Given the description of an element on the screen output the (x, y) to click on. 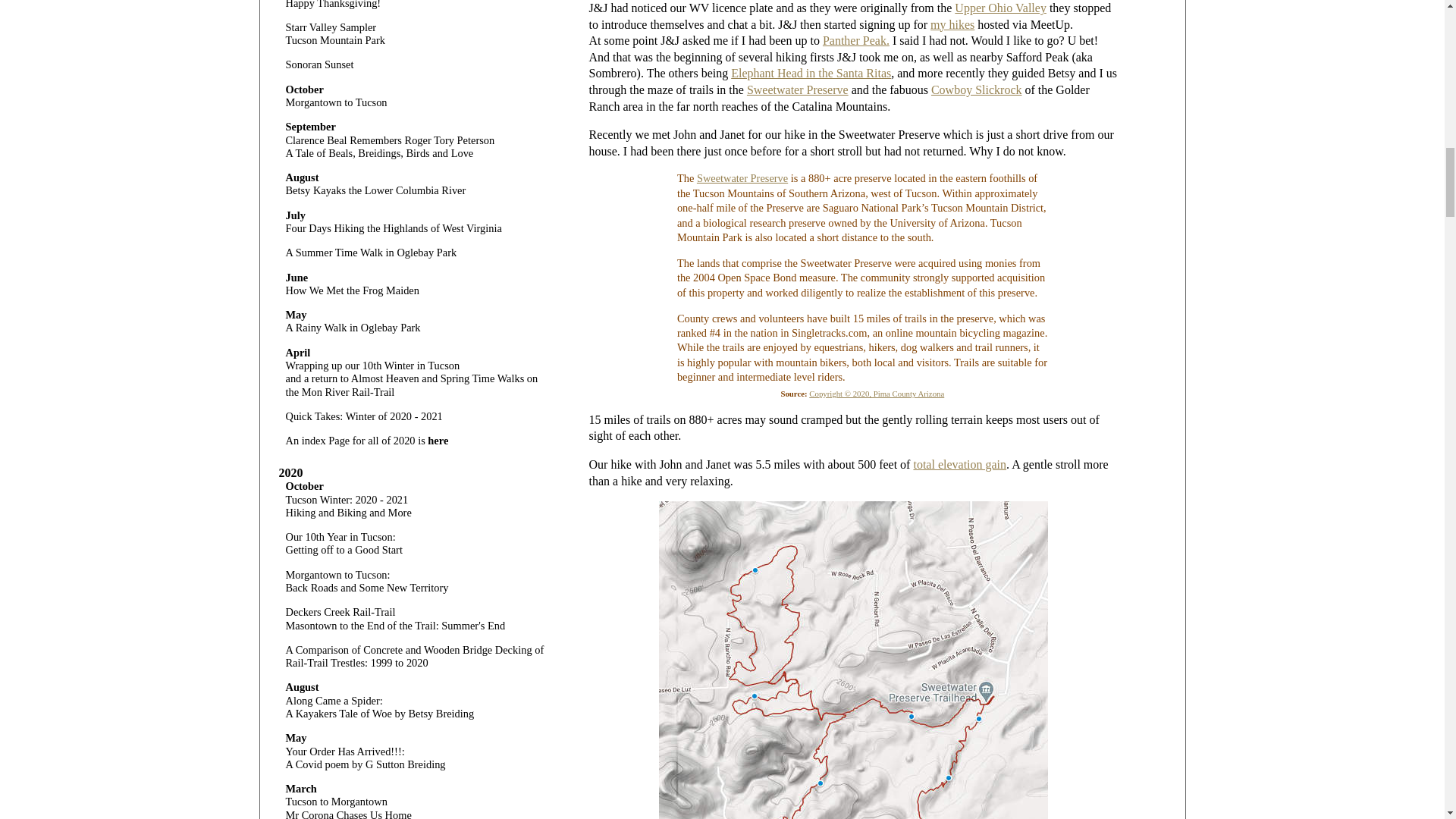
Cowboy Slickrock (976, 89)
Cowboy Slickrock (976, 89)
Attendence for The Tucson Hiking Meetup Group (952, 24)
Sweetwater Preserve (876, 393)
Sweetwater Preserve (742, 177)
total elevation gain (959, 463)
Sweetwater Preserve (797, 89)
Upper Ohio Valley (1000, 7)
Elephant Head in the Santa Ritas (810, 72)
Sweetwater Preserve location (742, 177)
